Given the description of an element on the screen output the (x, y) to click on. 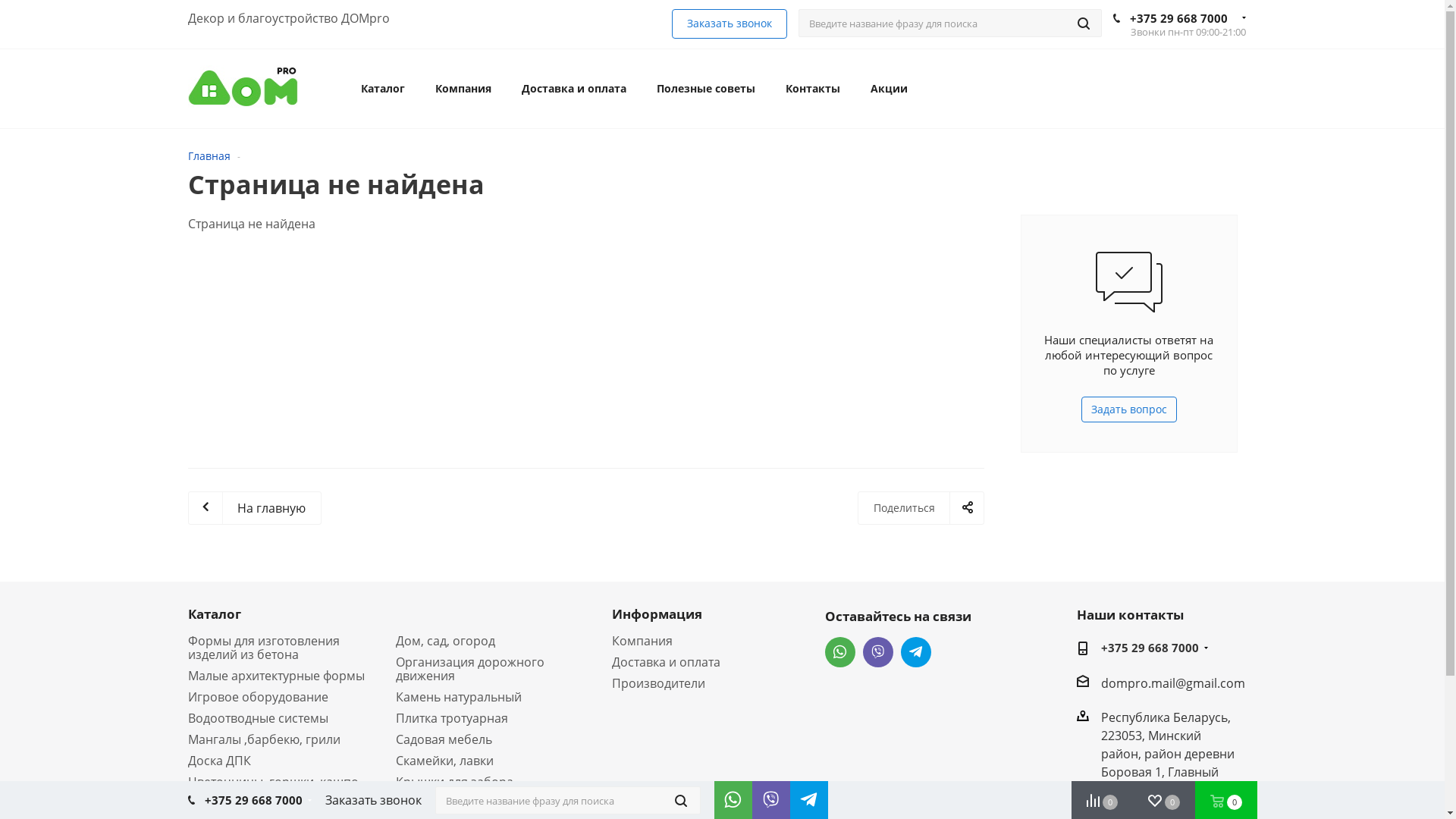
Whatsapp Element type: text (729, 796)
Viber Element type: text (767, 796)
Viber Element type: text (877, 652)
Whatsapp Element type: text (840, 652)
+375 29 668 7000 Element type: text (1178, 17)
+375 29 668 7000 Element type: text (1149, 648)
Telegram Element type: text (805, 796)
Telegram Element type: text (915, 652)
dompro.mail@gmail.com Element type: text (1173, 682)
+375 29 668 7000 Element type: text (253, 799)
